Given the description of an element on the screen output the (x, y) to click on. 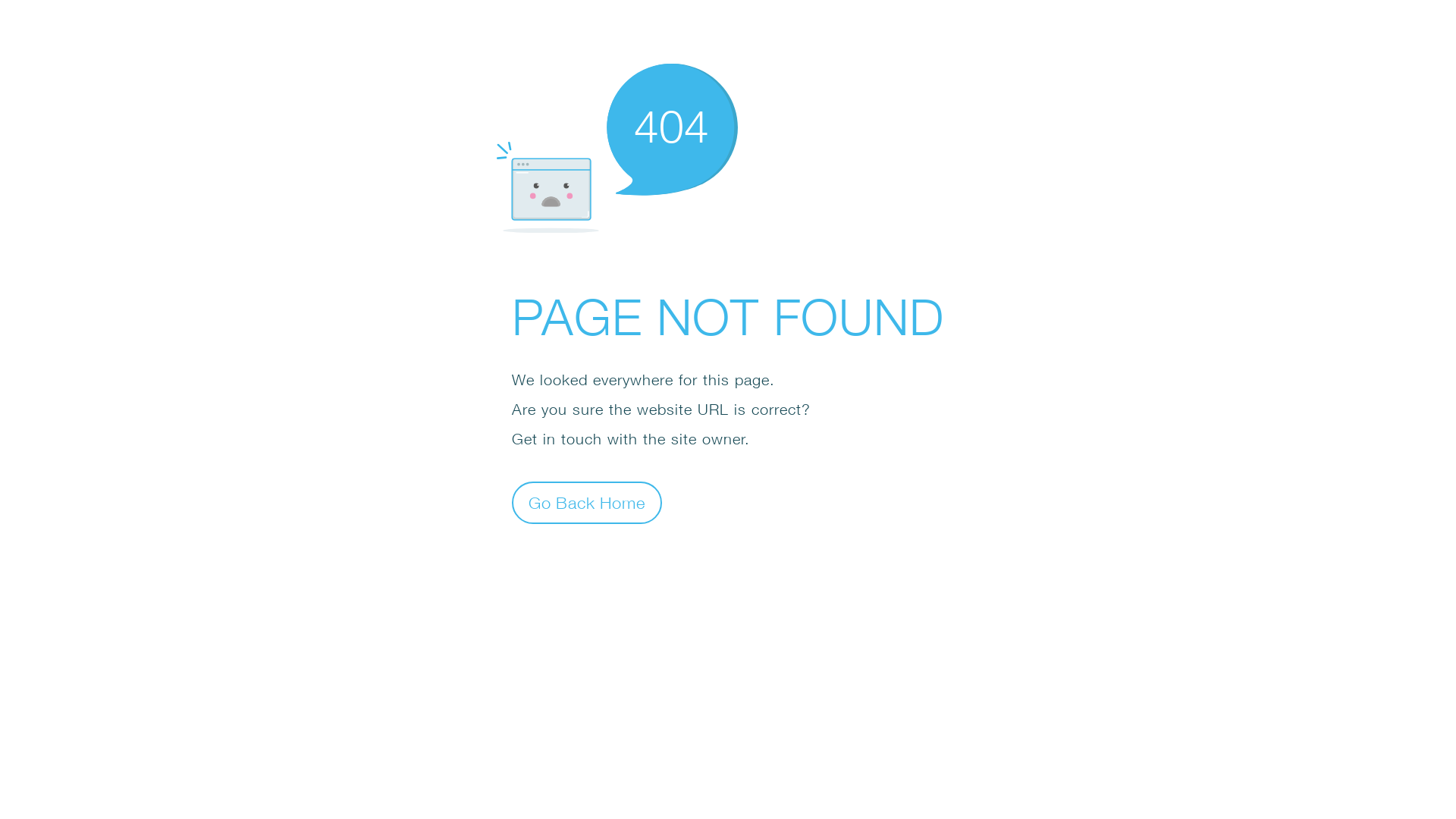
Go Back Home Element type: text (586, 502)
